Given the description of an element on the screen output the (x, y) to click on. 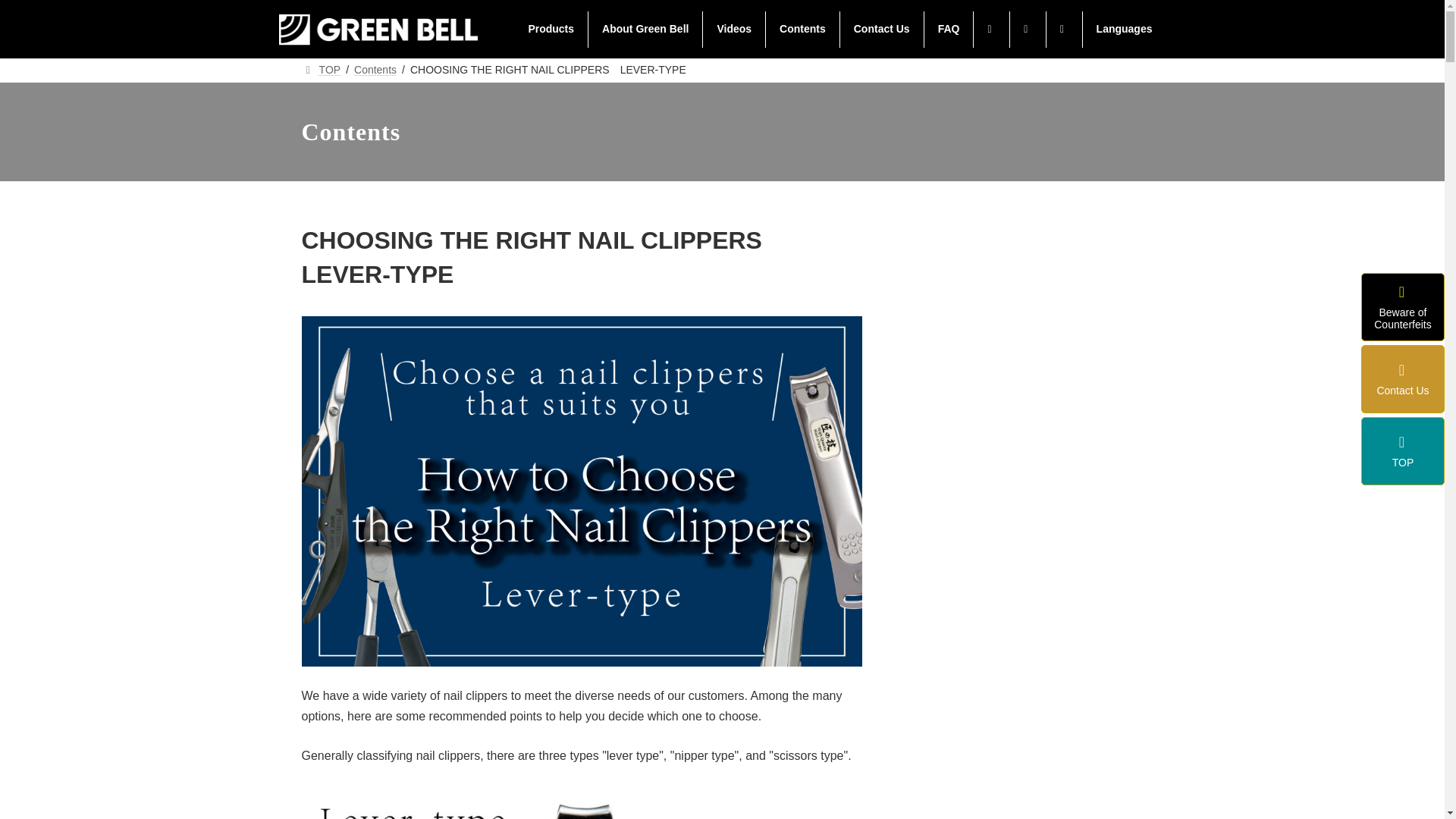
Contents (802, 29)
About Green Bell (644, 29)
Products (550, 29)
Videos (734, 29)
FAQ (949, 29)
Contact Us (881, 29)
